Given the description of an element on the screen output the (x, y) to click on. 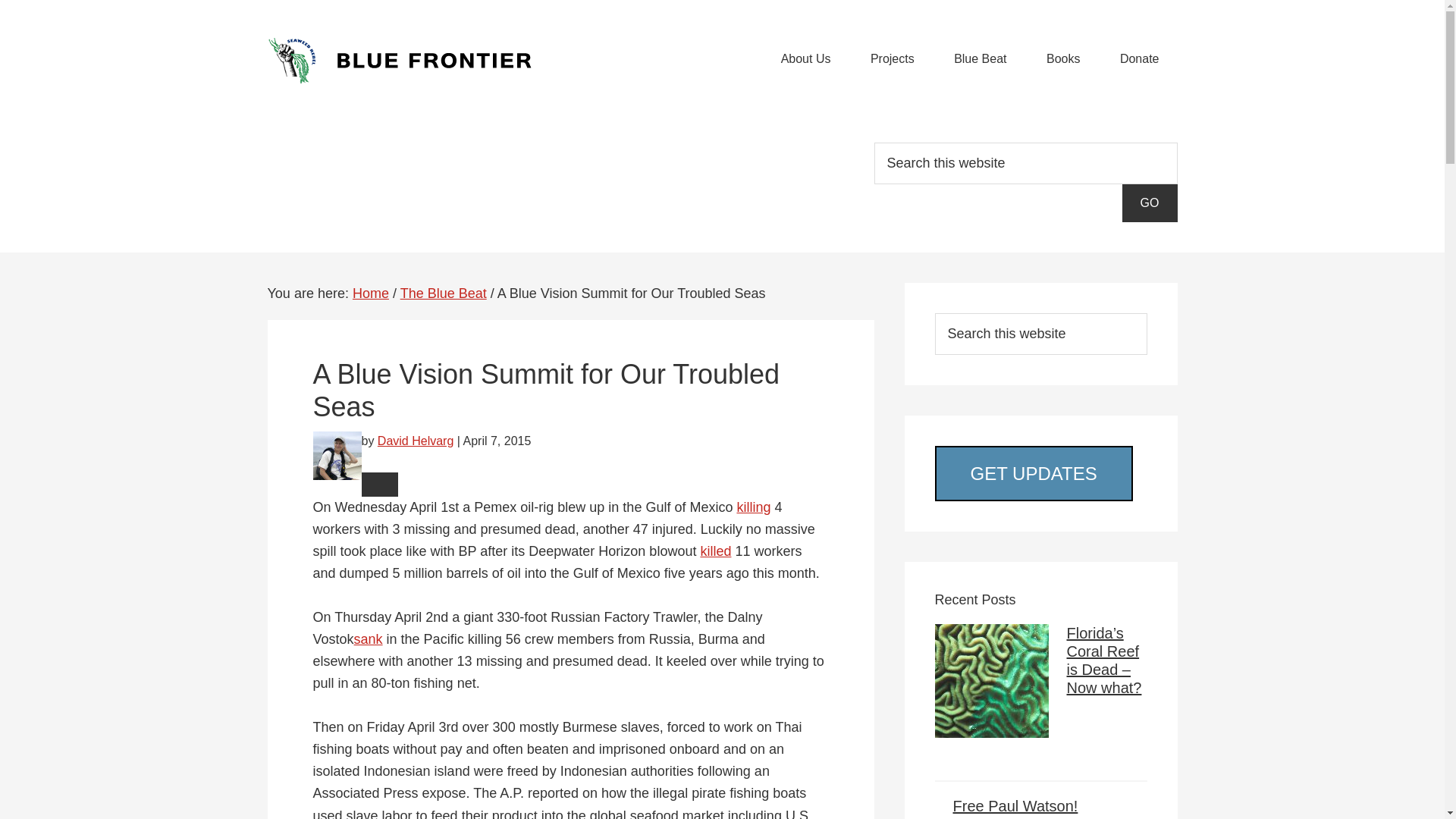
Go (1149, 202)
Go (1149, 202)
Go (1149, 202)
Donate (1139, 58)
Books (1062, 58)
Projects (892, 58)
Blue Beat (980, 58)
The Blue Beat (443, 293)
killing (753, 507)
sank (367, 639)
Blue Frontier (403, 60)
About Us (805, 58)
Home (370, 293)
